Given the description of an element on the screen output the (x, y) to click on. 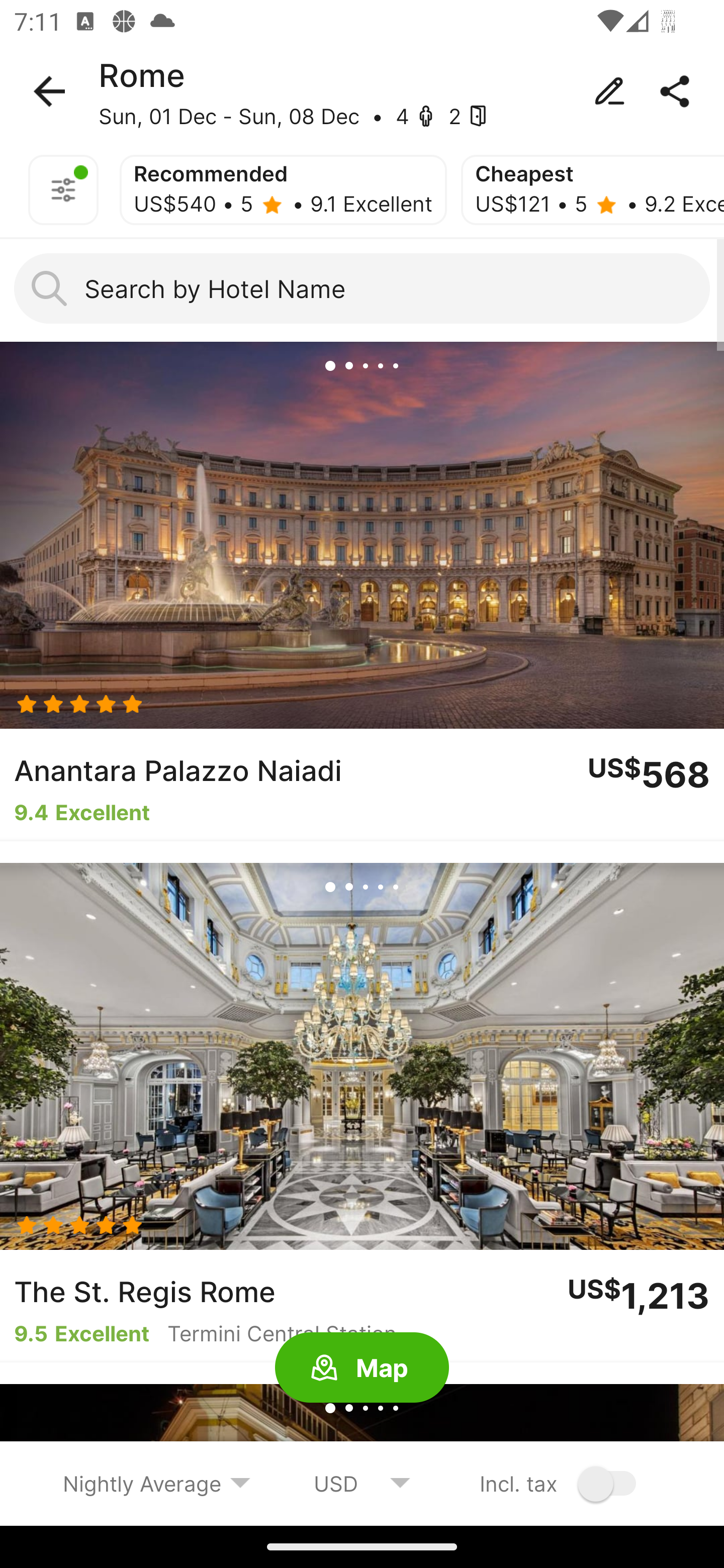
Rome Sun, 01 Dec - Sun, 08 Dec  •  4 -  2 - (361, 91)
Recommended  US$540  • 5 - • 9.1 Excellent (282, 190)
Cheapest US$121  • 5 - • 9.2 Excellent (592, 190)
Search by Hotel Name  (361, 288)
10.0 Anantara Palazzo Naiadi  9.4 Excellent (362, 590)
Map  (361, 1367)
Nightly Average (156, 1482)
USD (361, 1482)
